Given the description of an element on the screen output the (x, y) to click on. 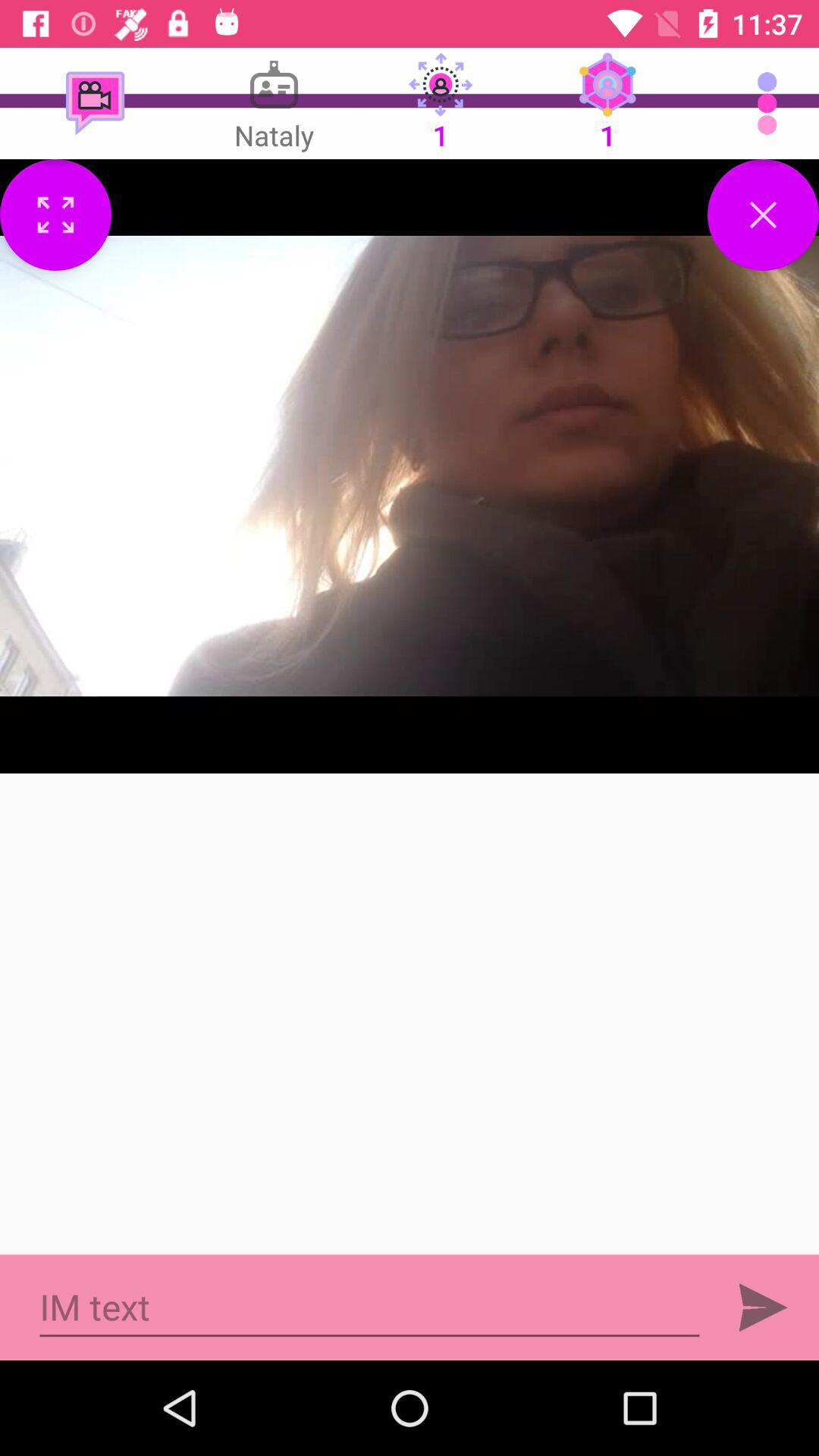
space to enter text (369, 1307)
